Given the description of an element on the screen output the (x, y) to click on. 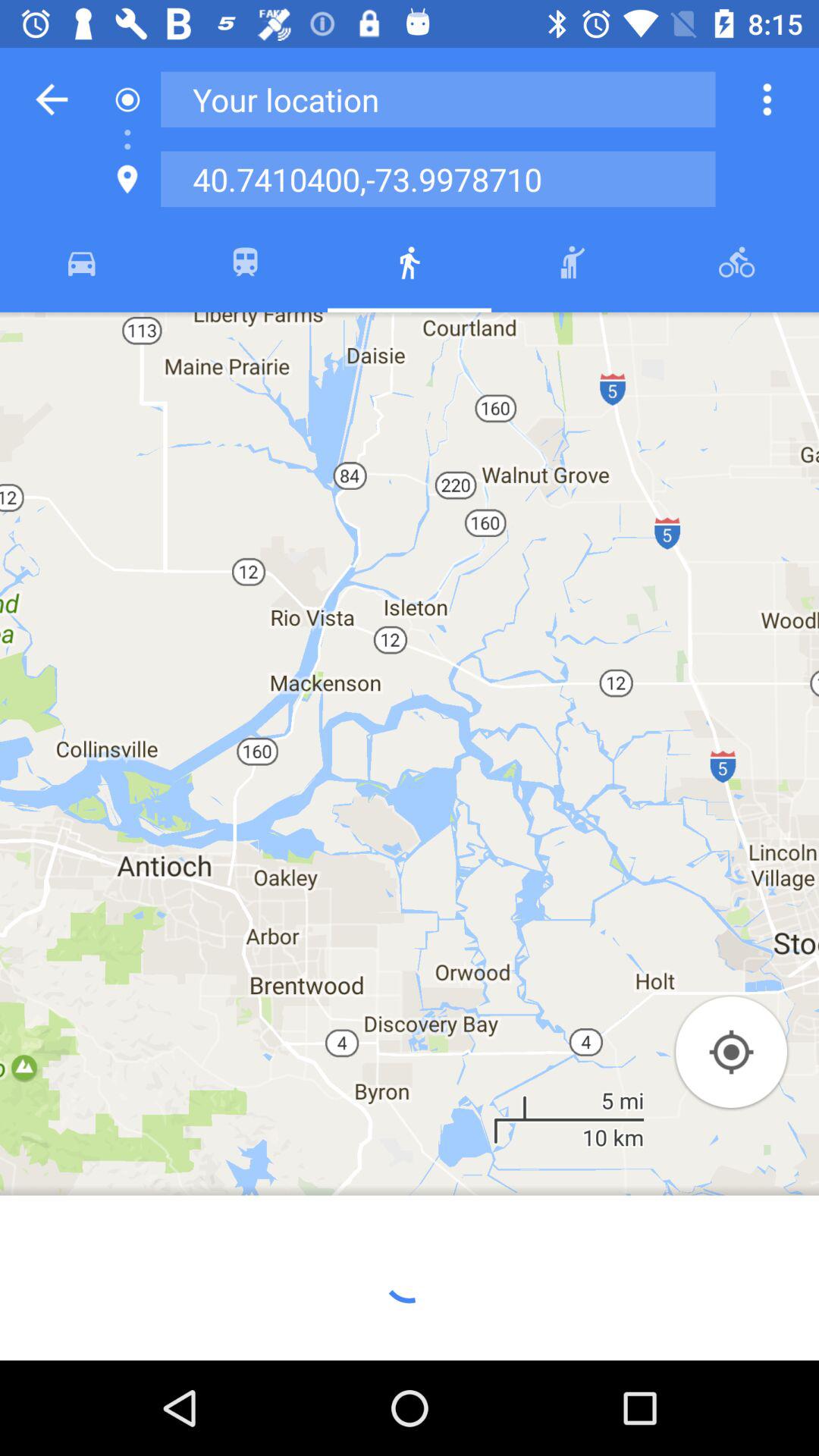
click on the destination icon (127, 178)
